Given the description of an element on the screen output the (x, y) to click on. 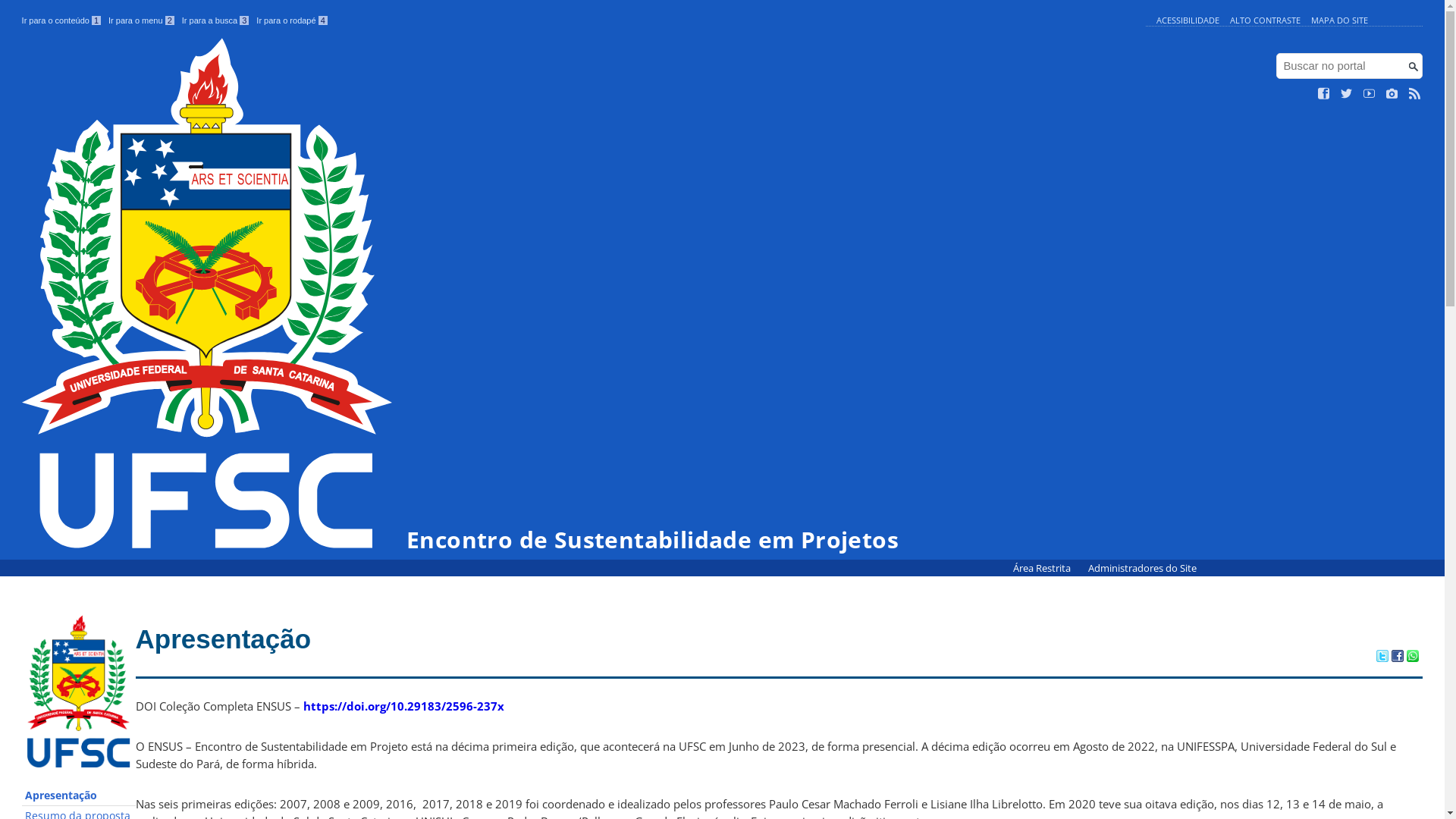
ALTO CONTRASTE Element type: text (1265, 19)
https://doi.org/10.29183/2596-237x Element type: text (403, 705)
Siga no Twitter Element type: hover (1346, 93)
MAPA DO SITE Element type: text (1339, 19)
Ir para o menu 2 Element type: text (141, 20)
Compartilhar no Facebook Element type: hover (1397, 657)
ACESSIBILIDADE Element type: text (1187, 19)
Ir para a busca 3 Element type: text (215, 20)
Compartilhar no Twitter Element type: hover (1382, 657)
Administradores do Site Element type: text (1141, 567)
Compartilhar no WhatsApp Element type: hover (1412, 657)
Curta no Facebook Element type: hover (1323, 93)
Encontro de Sustentabilidade em Projetos Element type: text (459, 294)
Veja no Instagram Element type: hover (1392, 93)
